Given the description of an element on the screen output the (x, y) to click on. 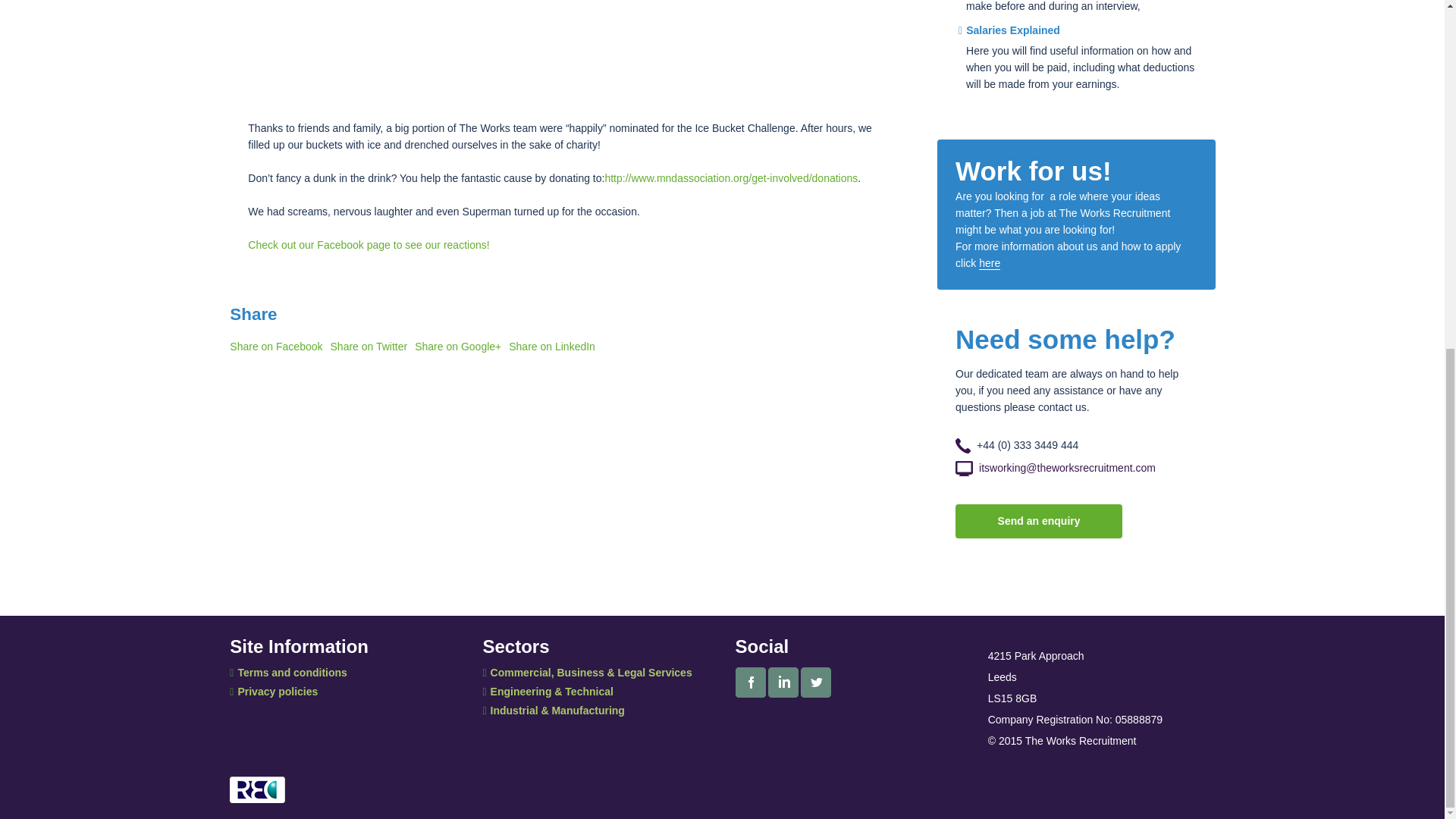
Check out our Facebook page to see our reactions! (368, 244)
Share on LinkedIn (551, 346)
Share on Facebook (275, 346)
here (989, 263)
Share on Twitter (368, 346)
Terms and conditions (288, 672)
Privacy policies (273, 691)
Send an enquiry (1038, 521)
Salaries Explained (1008, 30)
